Given the description of an element on the screen output the (x, y) to click on. 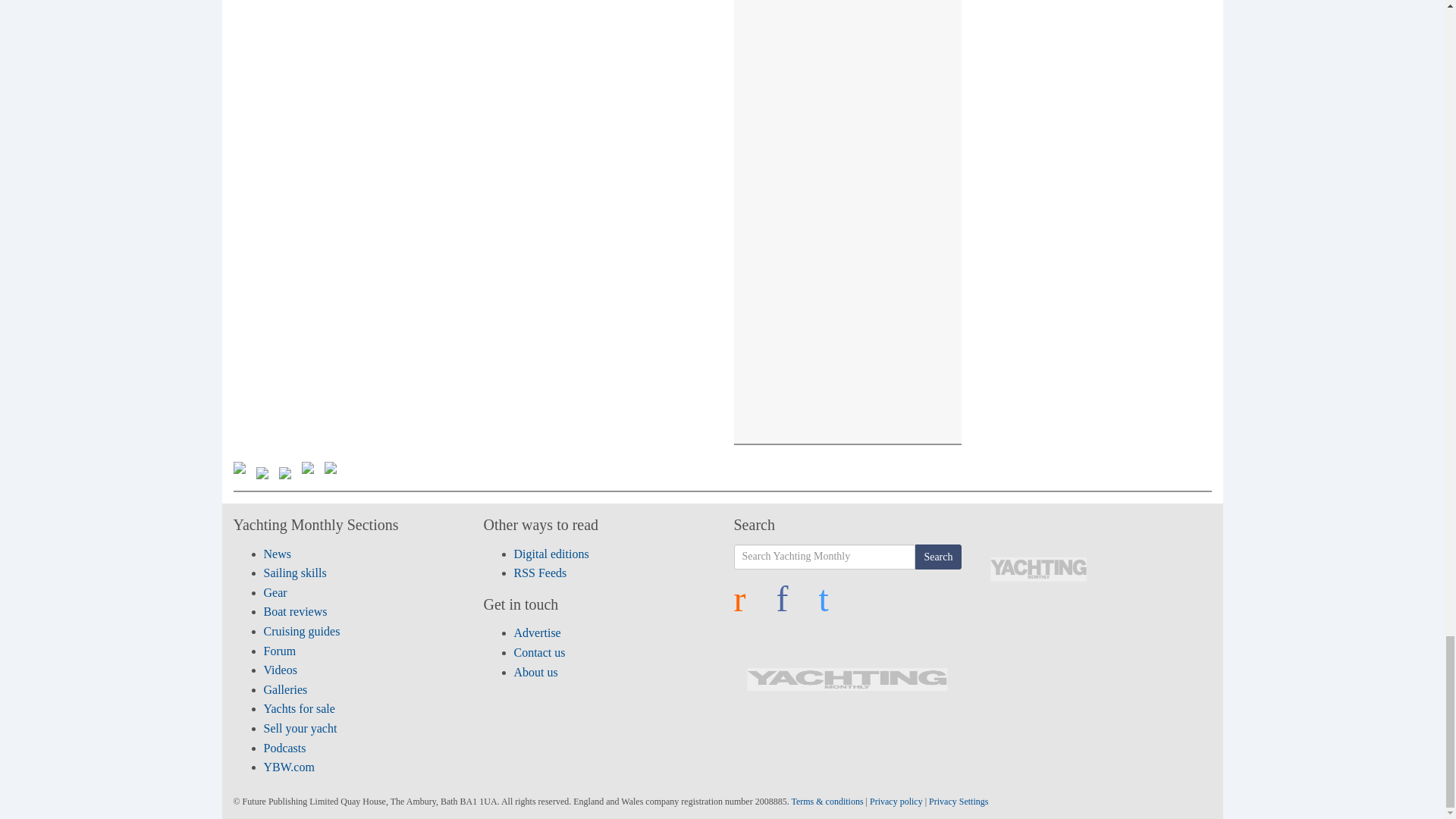
Latest Issue of Yachting Monthly (1038, 569)
